Given the description of an element on the screen output the (x, y) to click on. 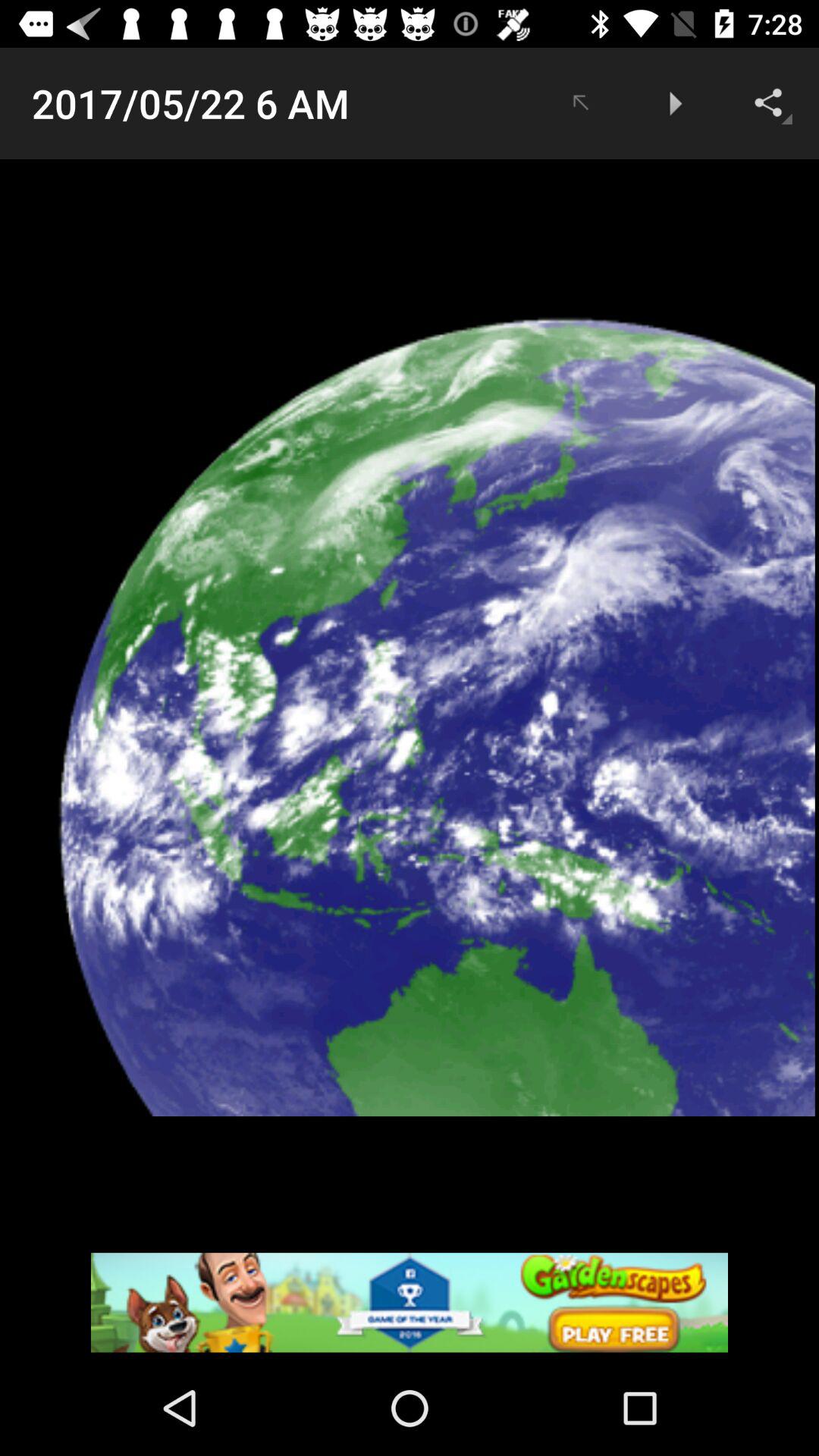
launch app next to 2017 05 22 app (579, 103)
